Given the description of an element on the screen output the (x, y) to click on. 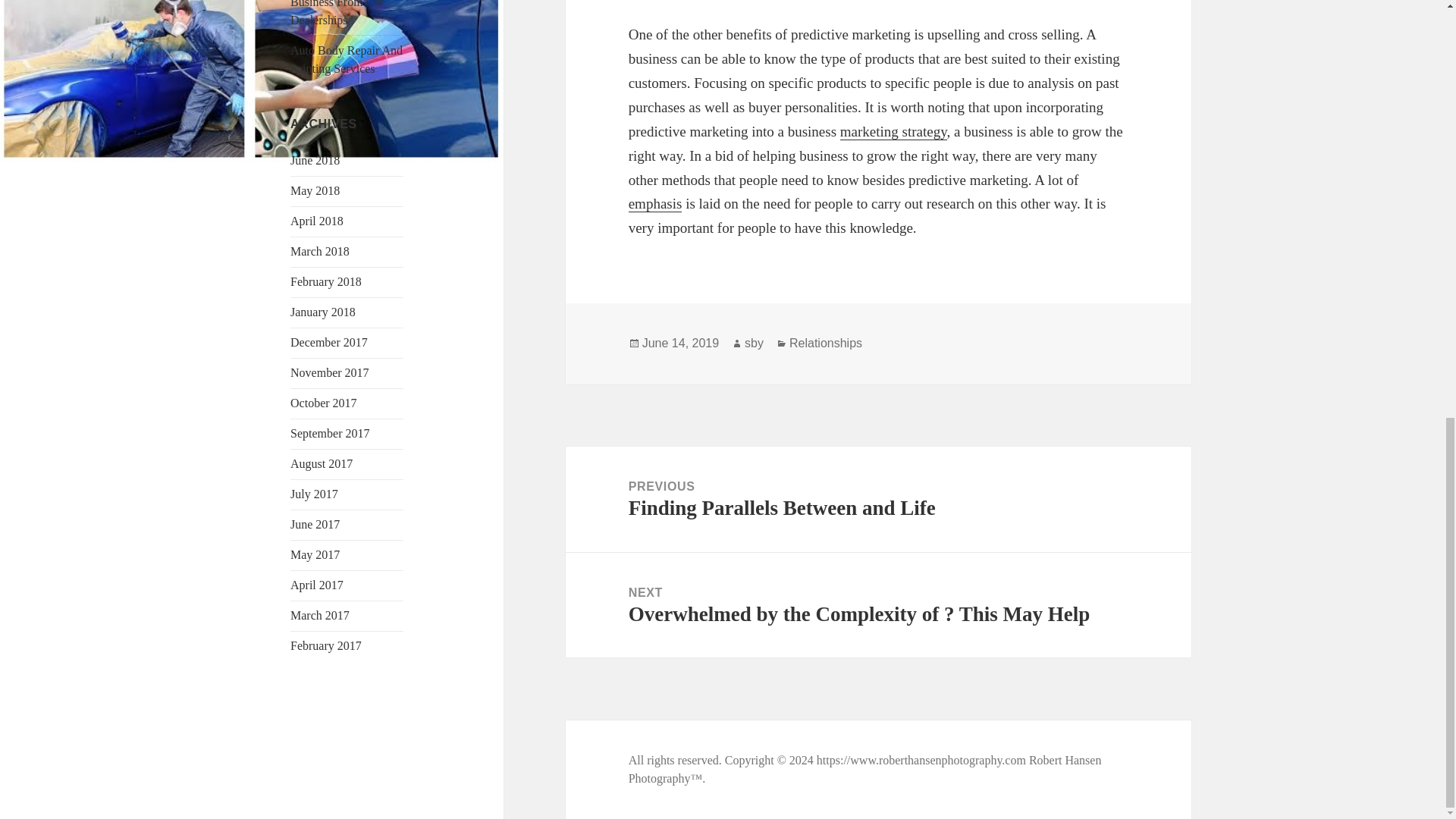
June 2017 (314, 523)
April 2018 (316, 220)
March 2017 (319, 615)
May 2018 (314, 190)
December 2017 (328, 341)
sby (753, 343)
August 2017 (320, 463)
Relationships (825, 343)
Auto Body Repair And Painting Services (346, 59)
June 14, 2019 (680, 343)
June 2018 (314, 160)
emphasis (655, 203)
July 2017 (313, 493)
November 2017 (329, 372)
March 2018 (319, 250)
